Given the description of an element on the screen output the (x, y) to click on. 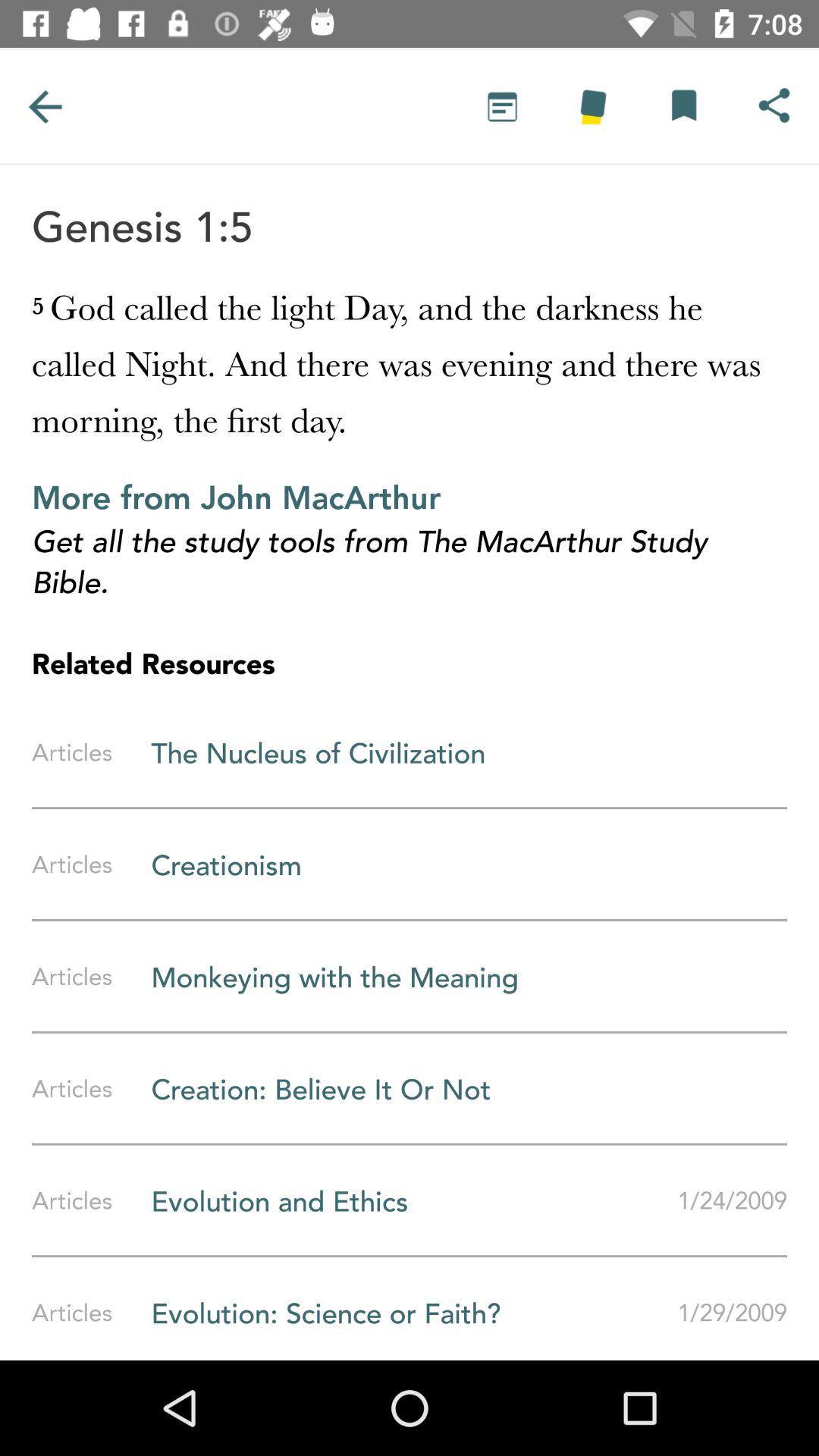
share the article (683, 106)
